Given the description of an element on the screen output the (x, y) to click on. 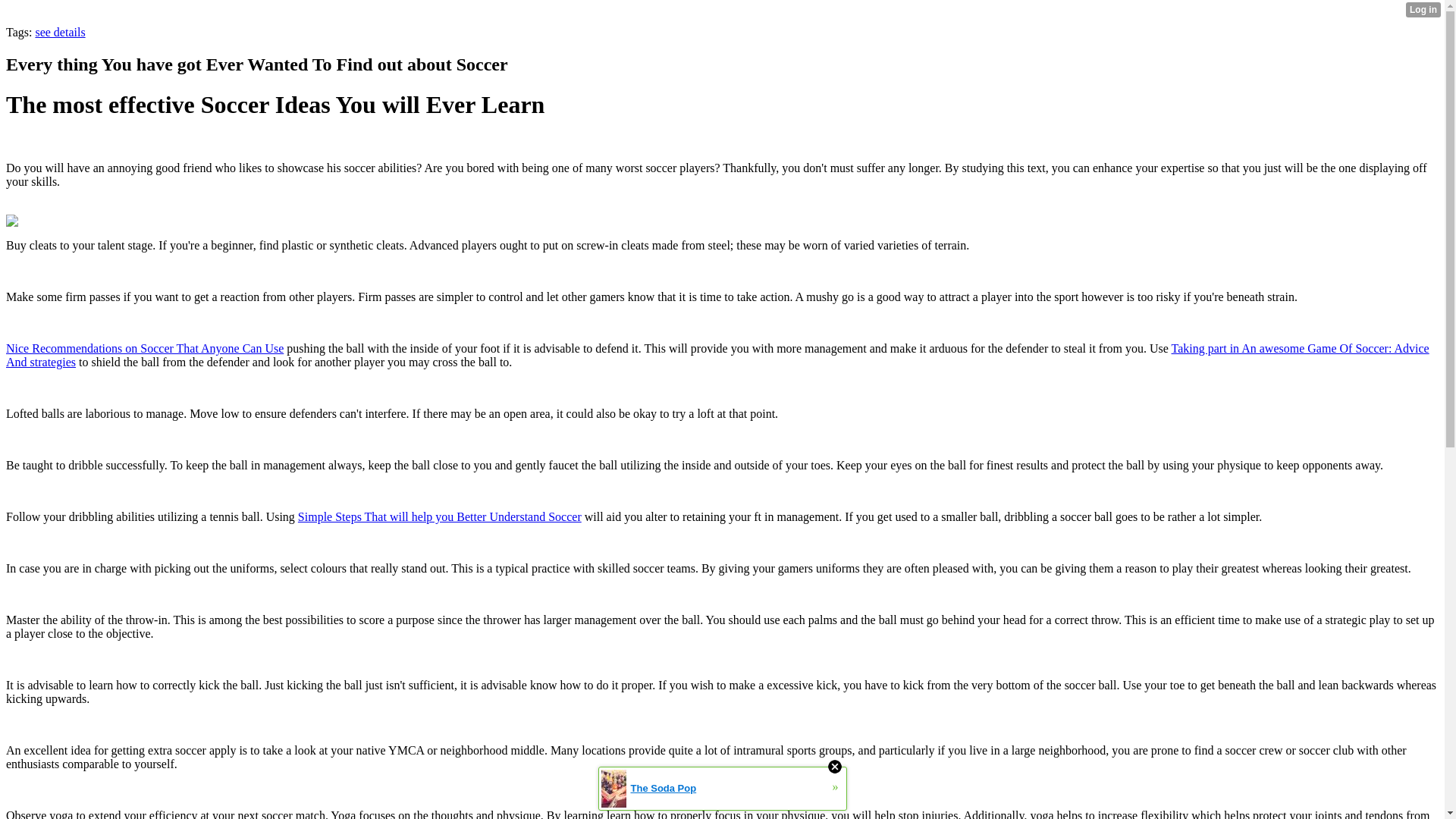
Simple Steps That will help you Better Understand Soccer (439, 516)
Nice Recommendations on Soccer That Anyone Can Use (144, 348)
see details (59, 31)
